Given the description of an element on the screen output the (x, y) to click on. 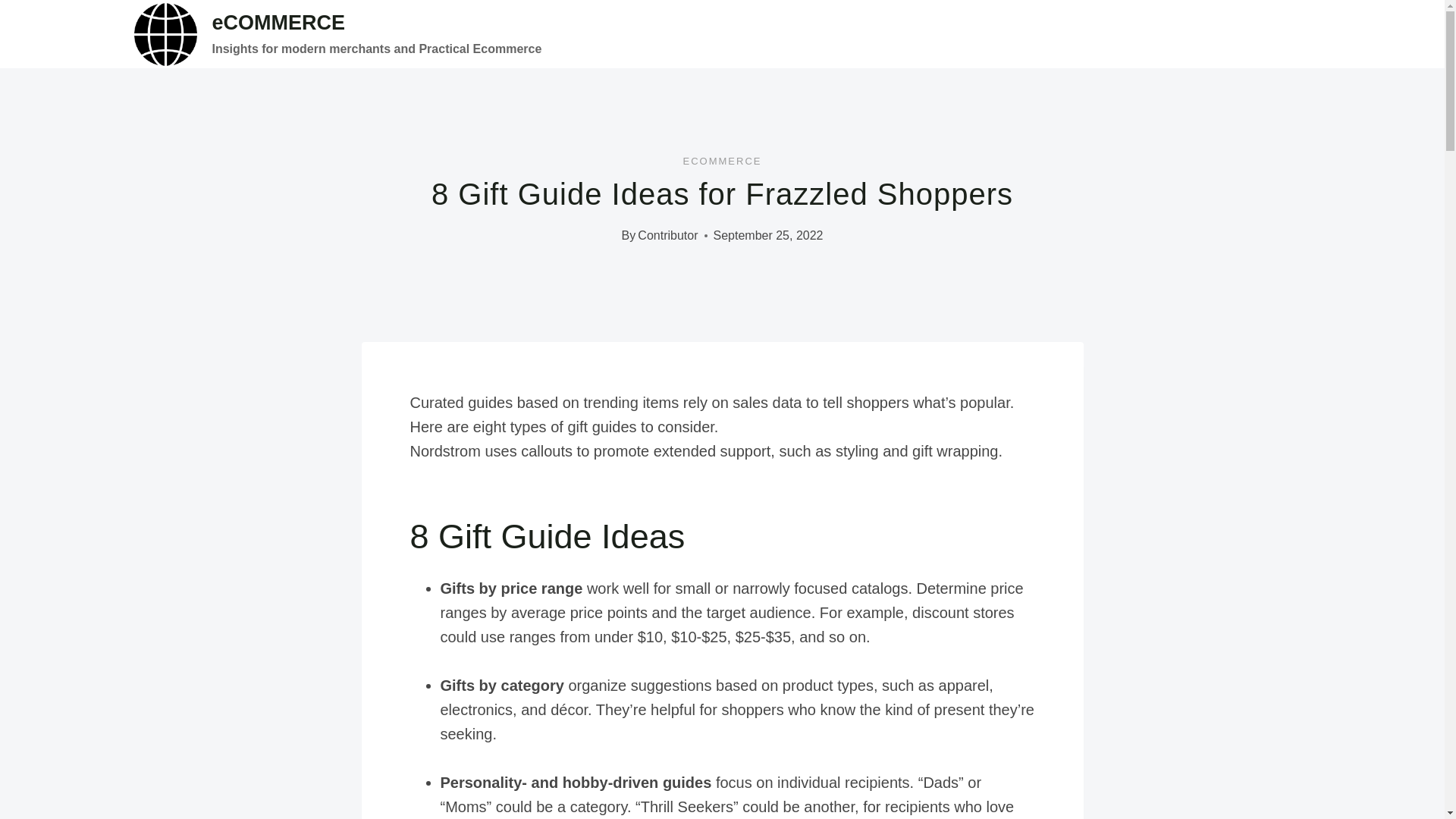
ECOMMERCE (721, 161)
Contributor (667, 235)
